Given the description of an element on the screen output the (x, y) to click on. 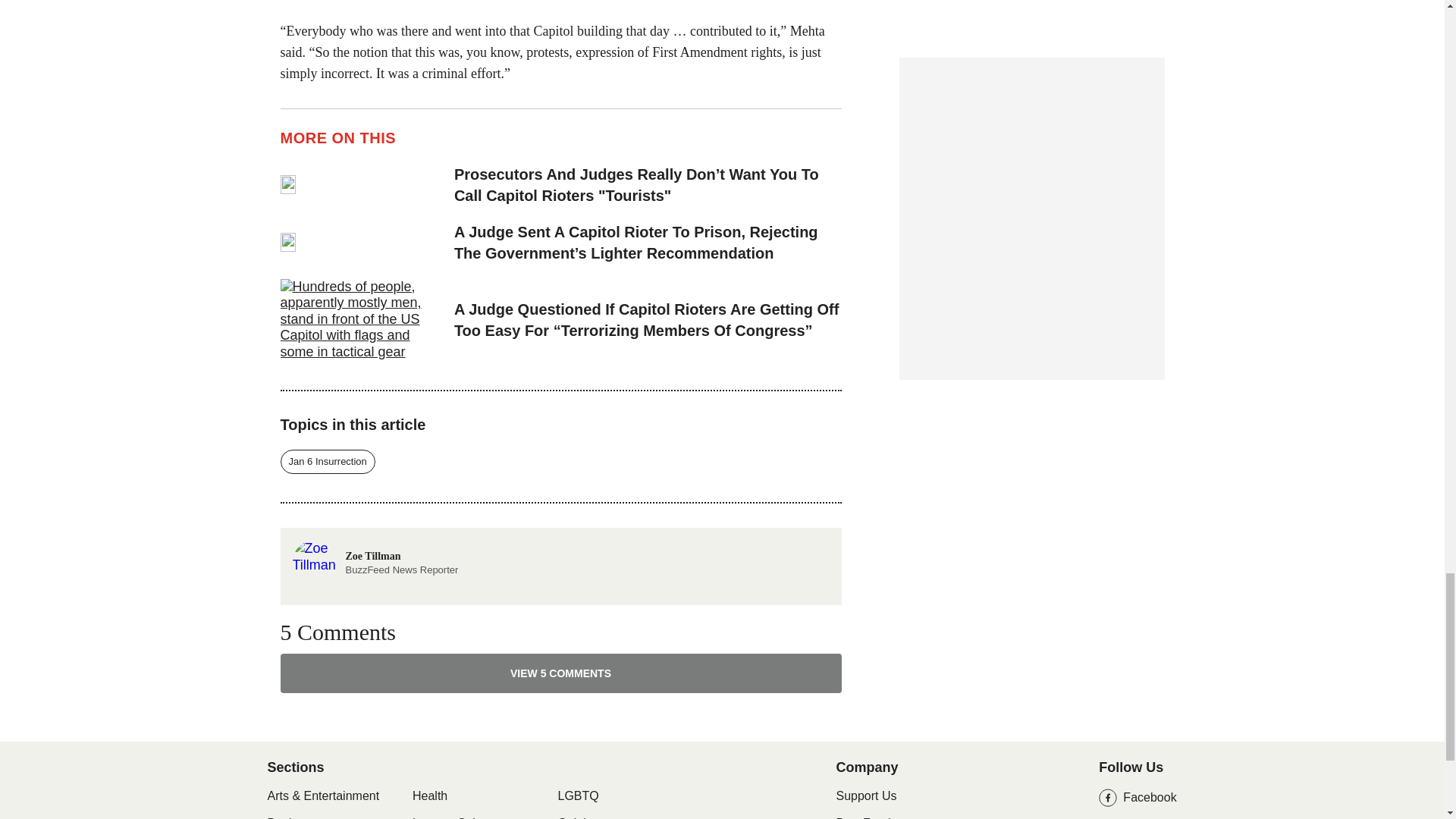
VIEW 5 COMMENTS (375, 548)
Jan 6 Insurrection (561, 672)
